Given the description of an element on the screen output the (x, y) to click on. 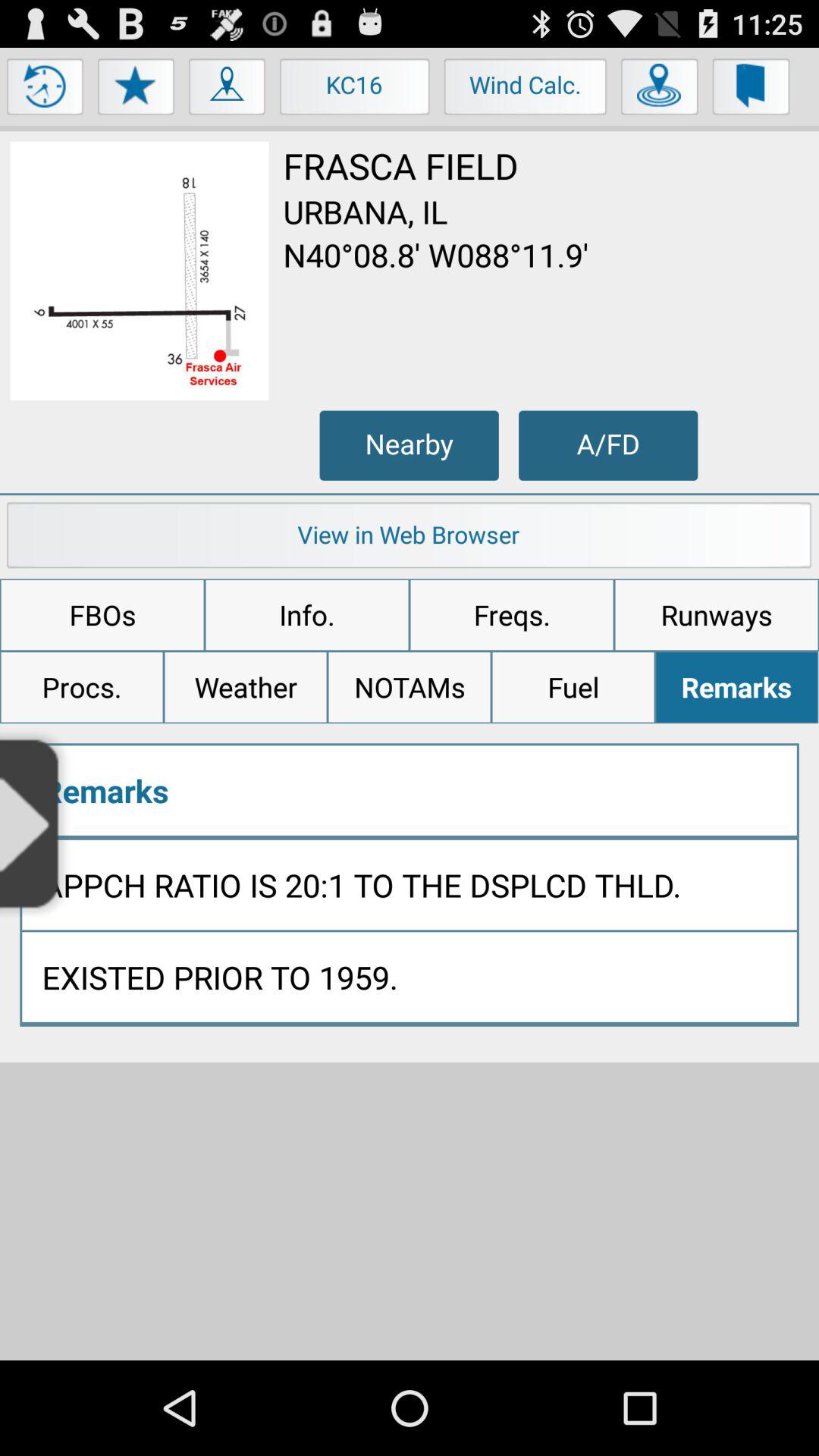
click to star button (136, 90)
